Given the description of an element on the screen output the (x, y) to click on. 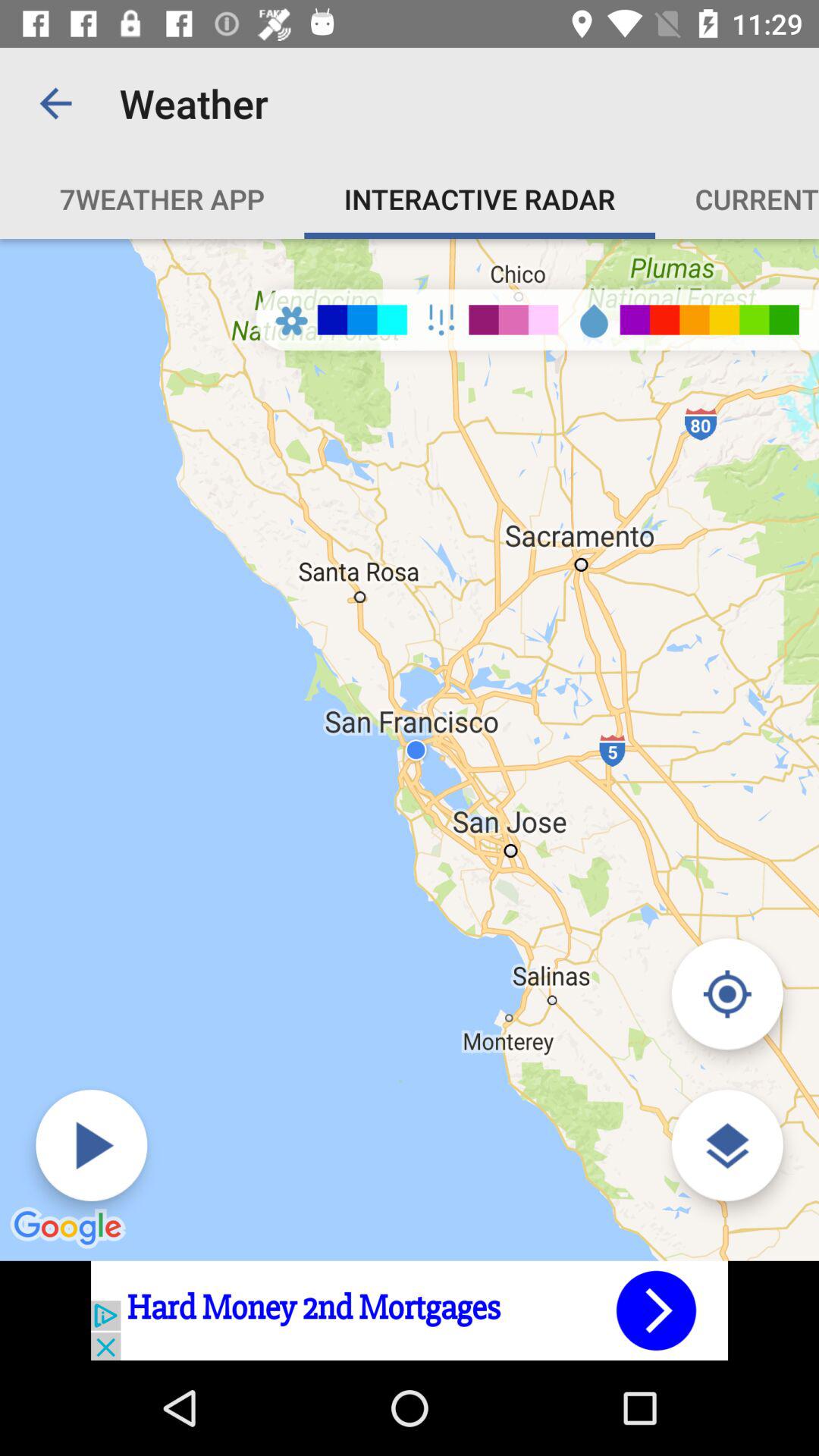
show your location (727, 993)
